Given the description of an element on the screen output the (x, y) to click on. 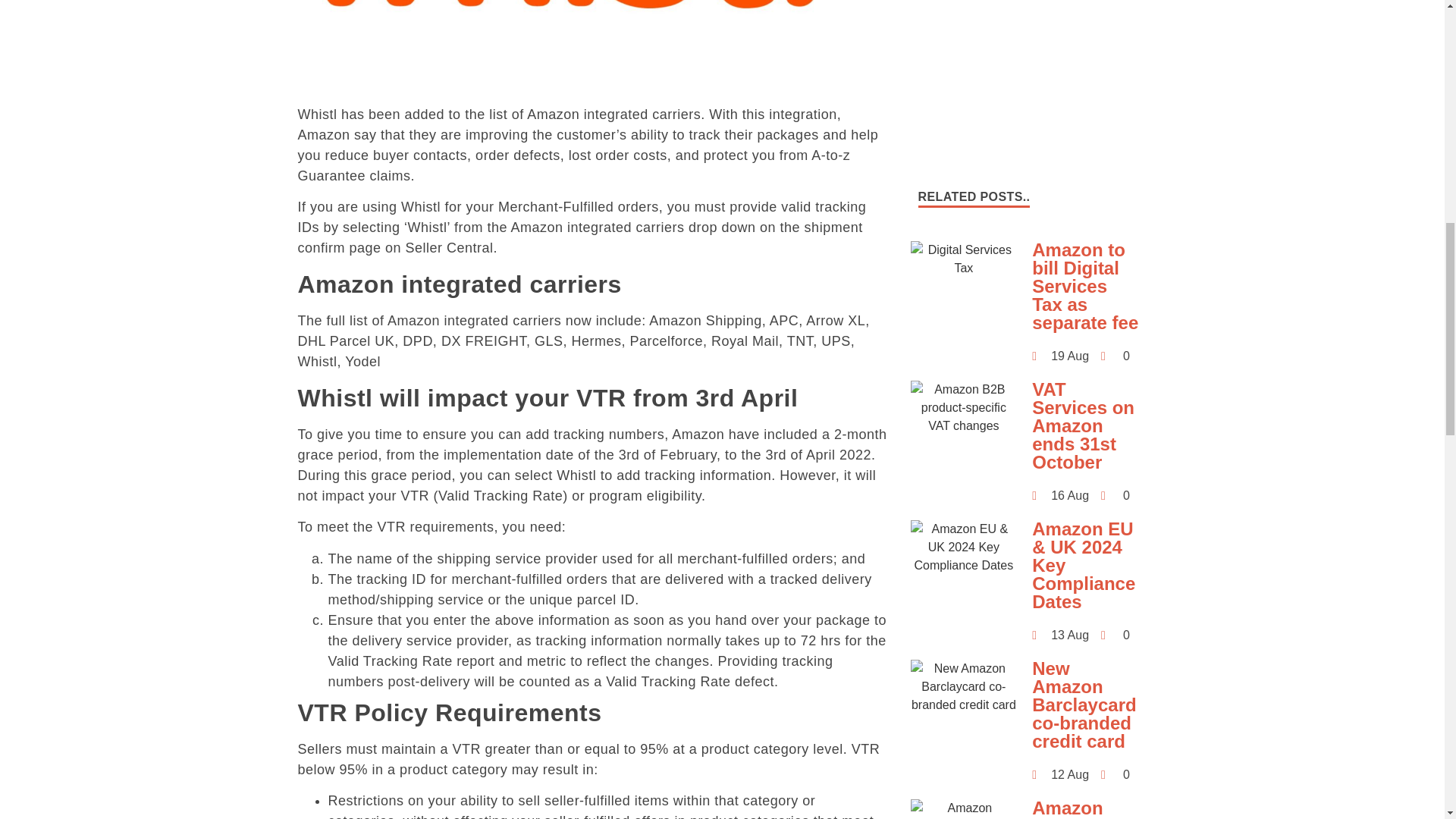
New Amazon Barclaycard co-branded credit card (963, 687)
Digital Services Tax (963, 258)
VAT-Services-on-Amazon-E50-country-reg-service (963, 407)
Amazon Shoppable Ads now on TikTok (963, 809)
